Given the description of an element on the screen output the (x, y) to click on. 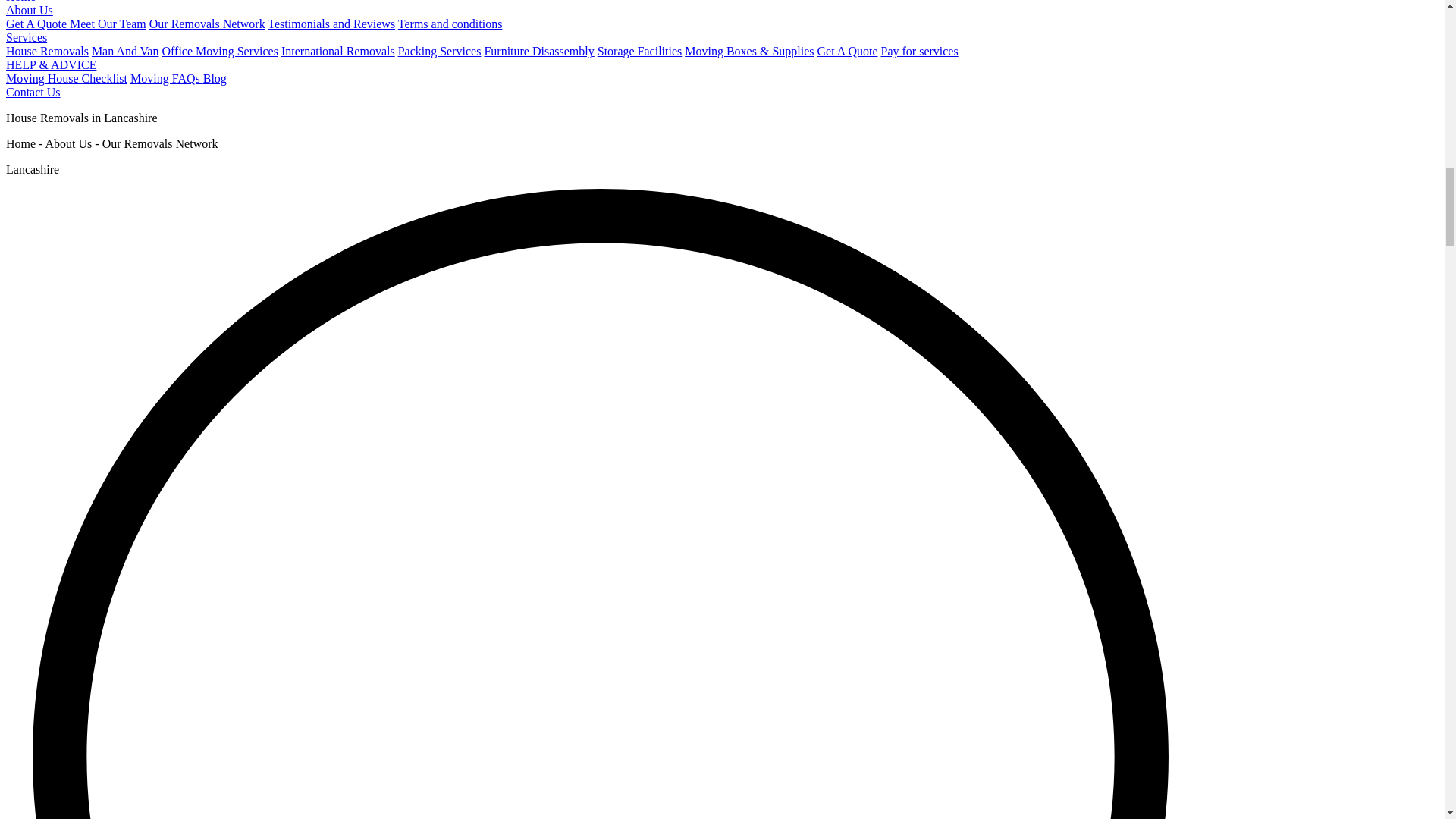
Home (19, 1)
Our Removals Network (206, 23)
Office Moving Services (219, 51)
Meet Our Team (108, 23)
Services (25, 37)
Terms and conditions (449, 23)
Man And Van (124, 51)
House Removals (46, 51)
Furniture Disassembly (538, 51)
Get A Quote (37, 23)
Testimonials and Reviews (330, 23)
Storage Facilities (639, 51)
International Removals (337, 51)
About Us (28, 10)
Packing Services (439, 51)
